Given the description of an element on the screen output the (x, y) to click on. 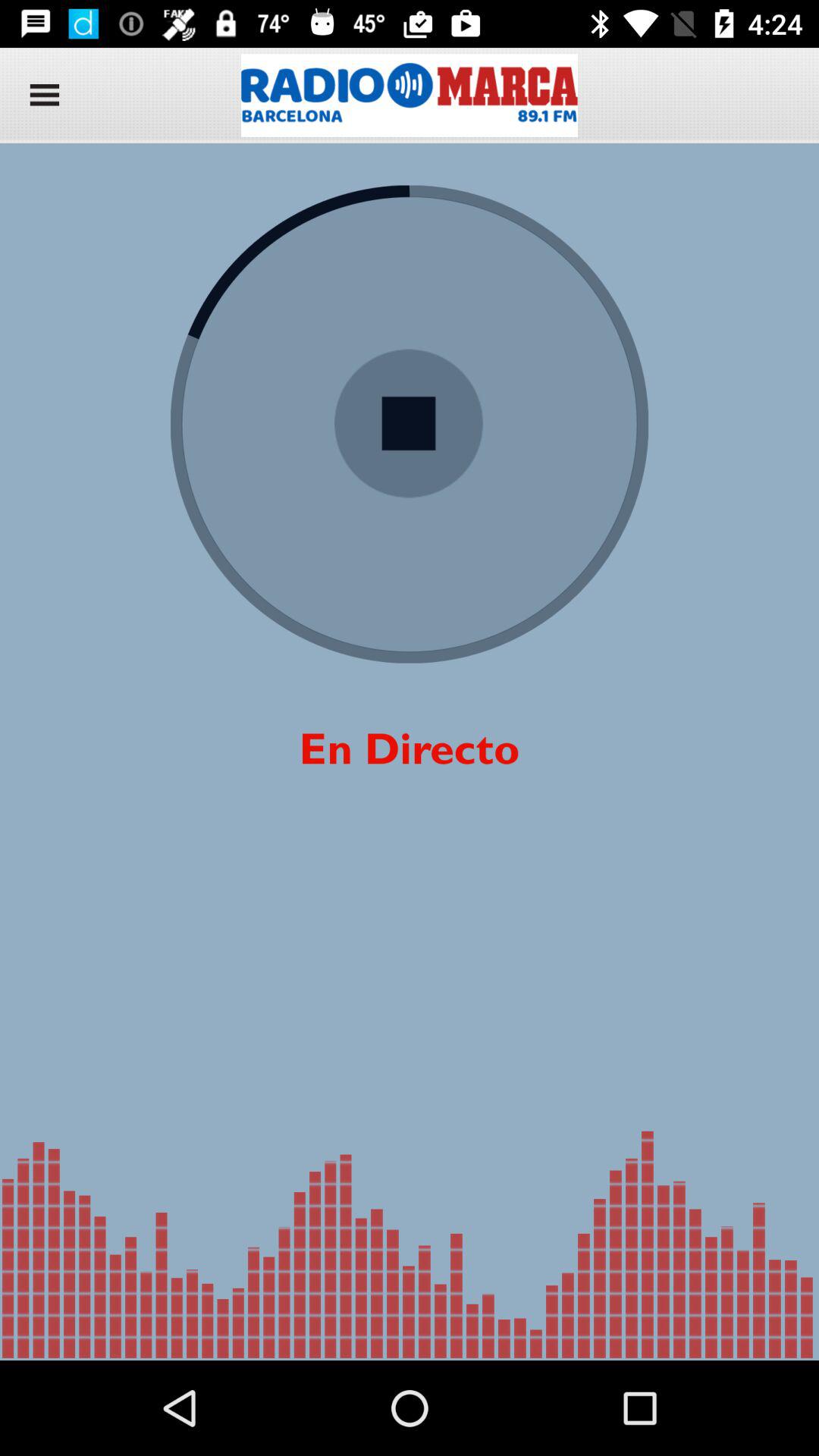
click icon above en directo app (409, 423)
